Given the description of an element on the screen output the (x, y) to click on. 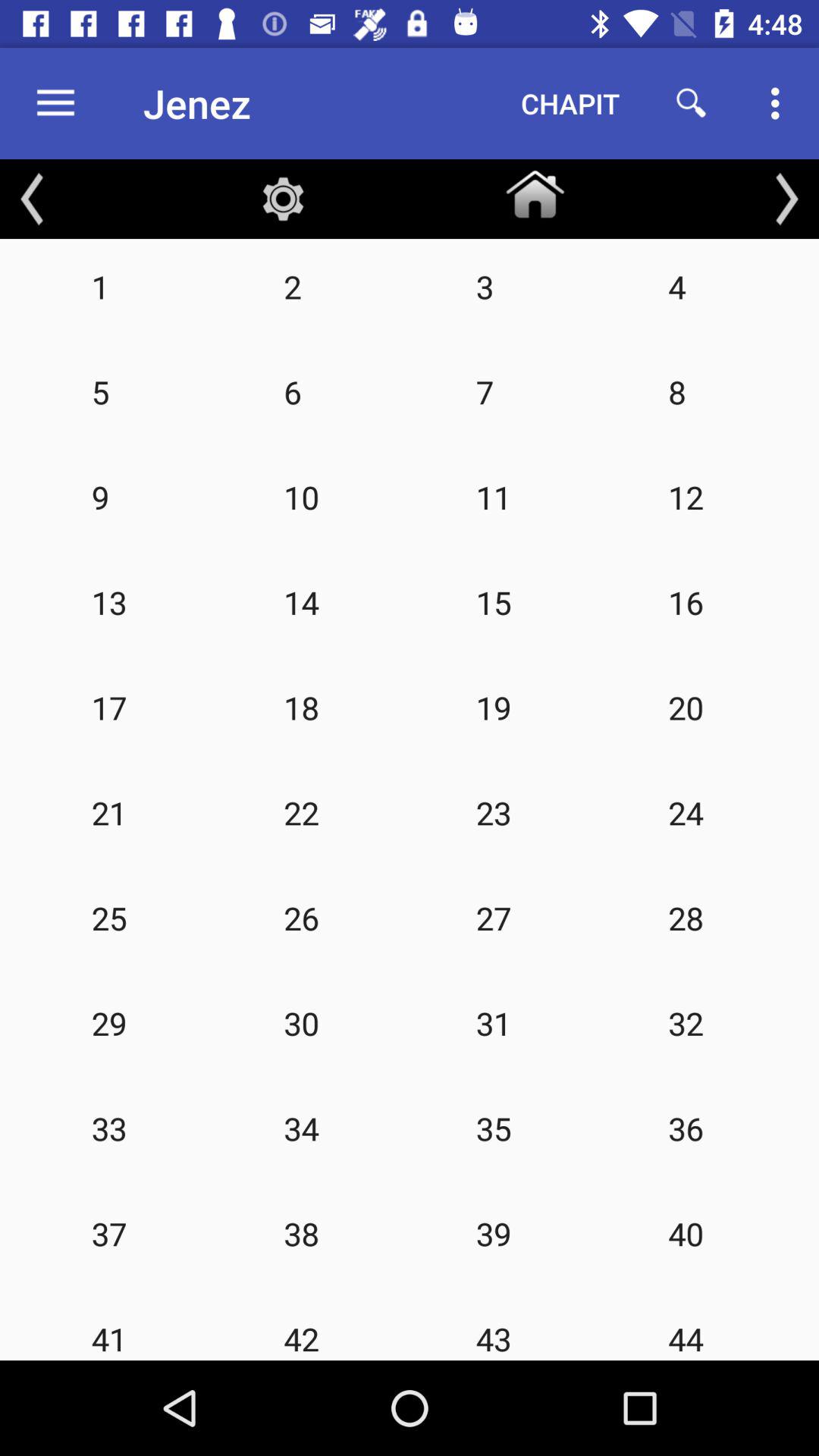
turn off the item above 2 icon (283, 198)
